Given the description of an element on the screen output the (x, y) to click on. 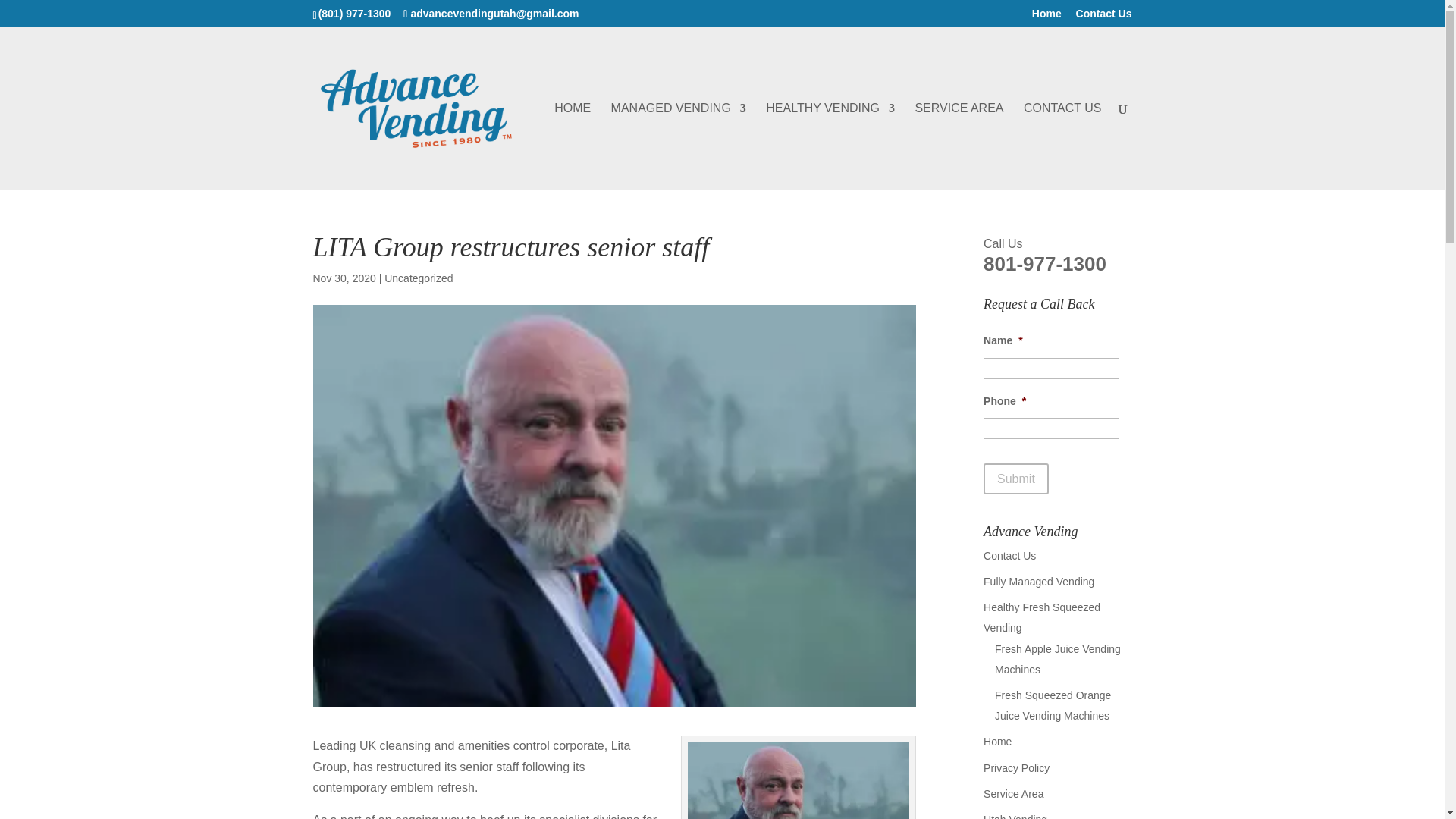
Uncategorized (418, 277)
SERVICE AREA (958, 146)
Fully Managed Vending (1039, 581)
MANAGED VENDING (678, 146)
Home (1046, 16)
Contact Us (1009, 555)
Contact Us (1103, 16)
CONTACT US (1062, 146)
Submit (1016, 478)
HEALTHY VENDING (830, 146)
Submit (1016, 478)
